Given the description of an element on the screen output the (x, y) to click on. 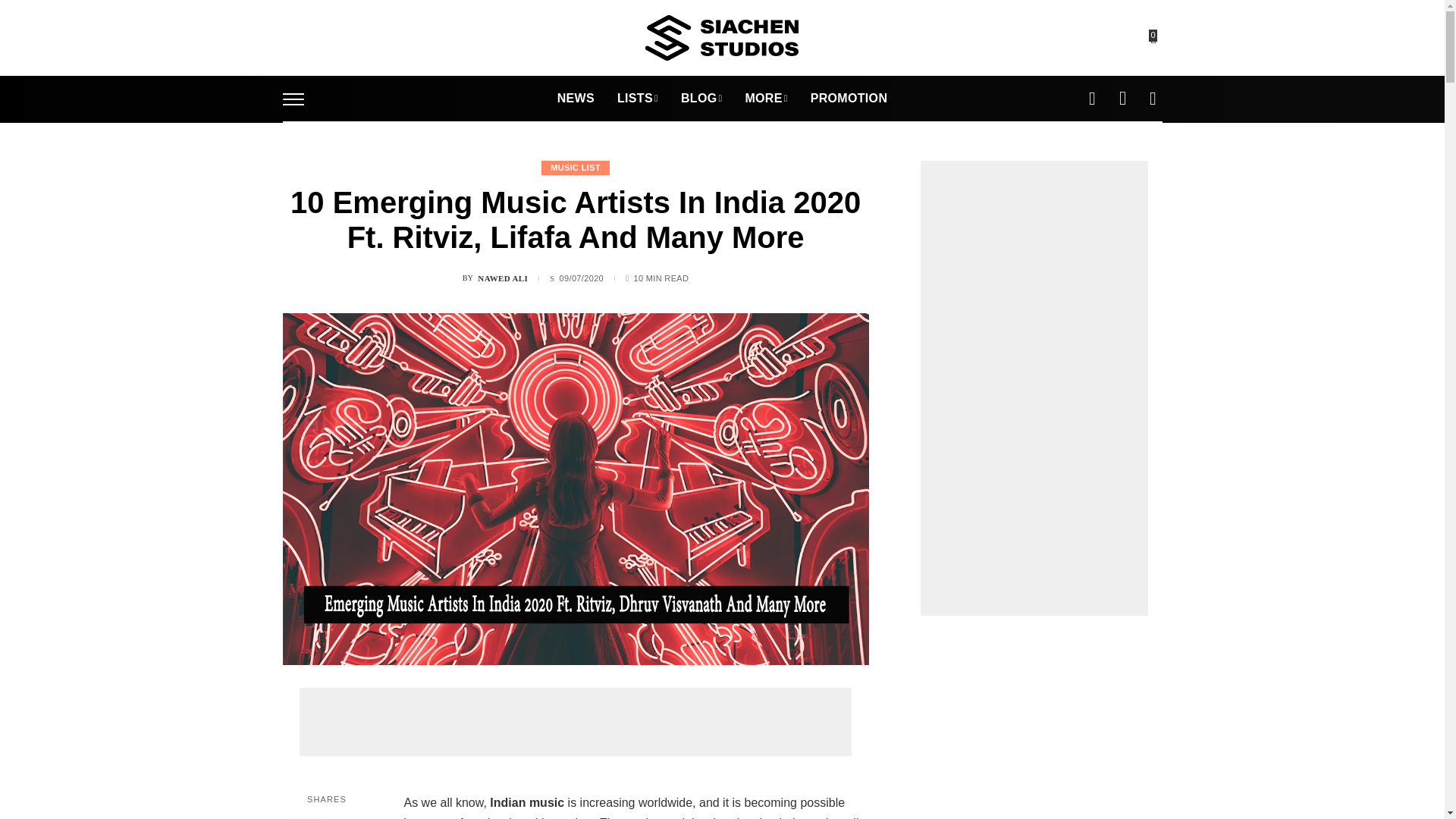
LISTS (637, 98)
NEWS (575, 98)
Siachen Studios (721, 37)
